Given the description of an element on the screen output the (x, y) to click on. 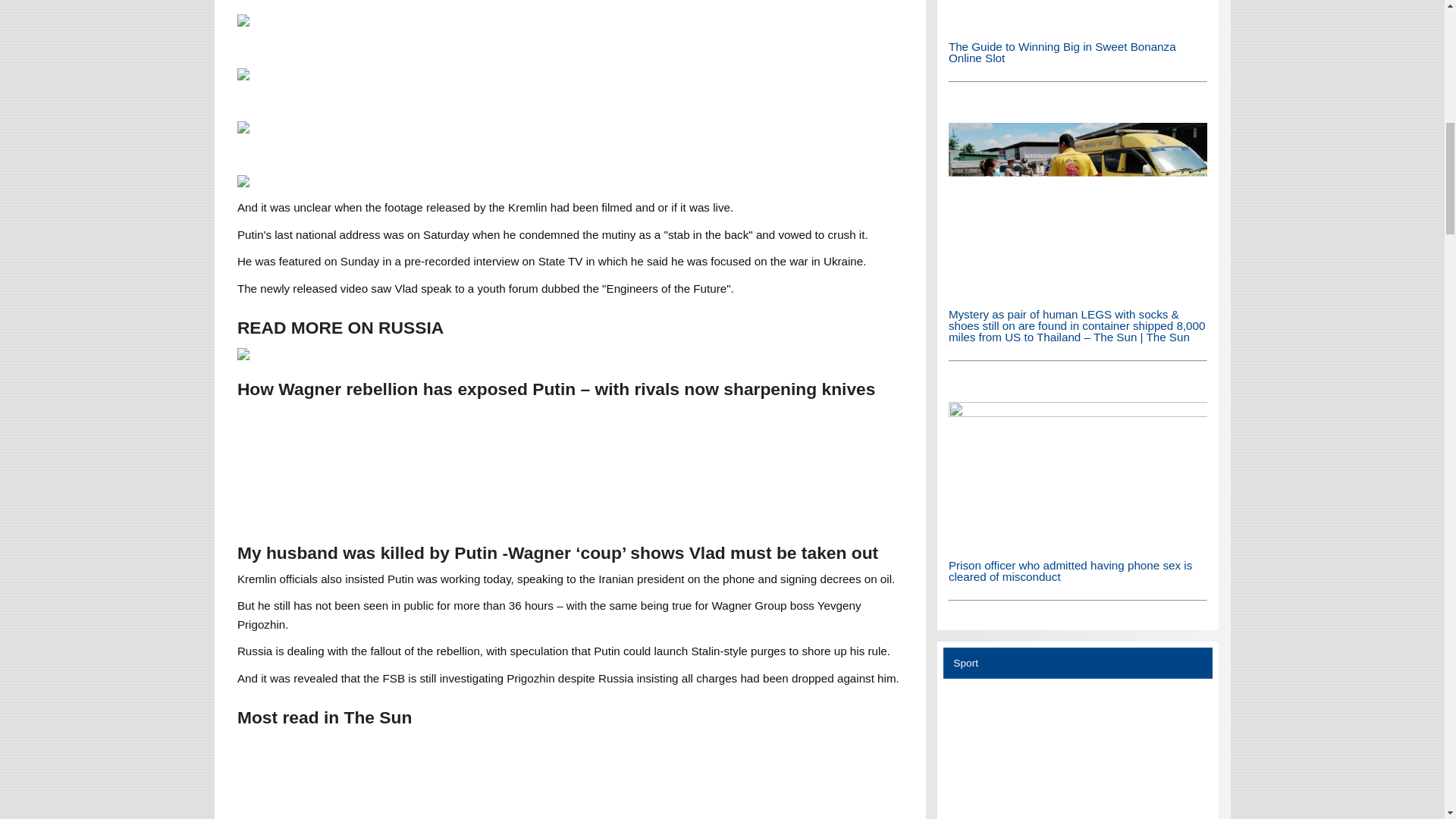
The Guide to Winning Big in Sweet Bonanza Online Slot (1078, 23)
The Guide to Winning Big in Sweet Bonanza Online Slot (1062, 52)
The Guide to Winning Big in Sweet Bonanza Online Slot (1078, 13)
